Given the description of an element on the screen output the (x, y) to click on. 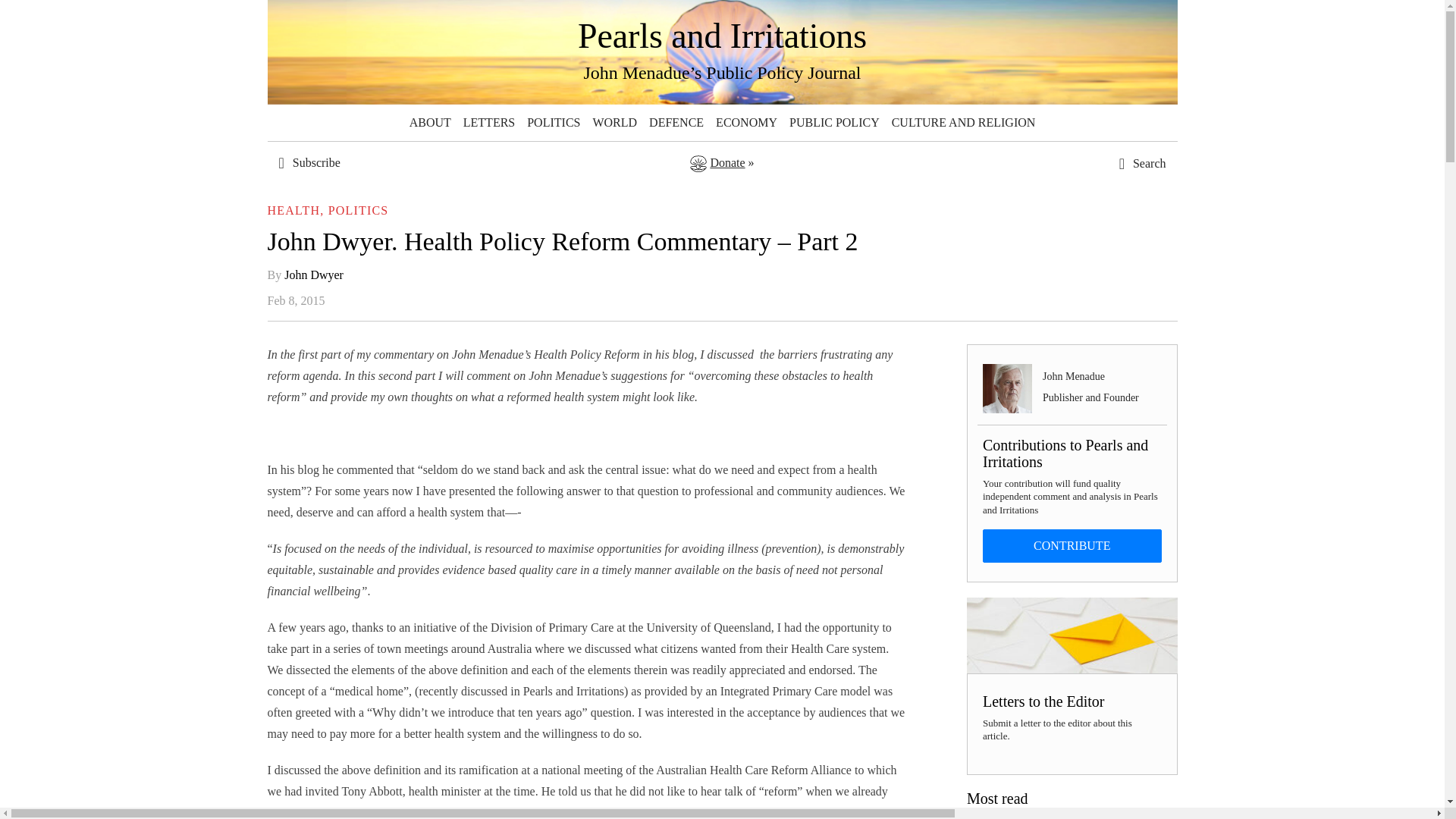
WORLD (614, 122)
DEFENCE (676, 122)
PUBLIC POLICY (834, 122)
LETTERS (489, 122)
Search (1106, 440)
About (430, 122)
ECONOMY (746, 122)
World (614, 122)
ABOUT (430, 122)
POLITICS (553, 122)
